Given the description of an element on the screen output the (x, y) to click on. 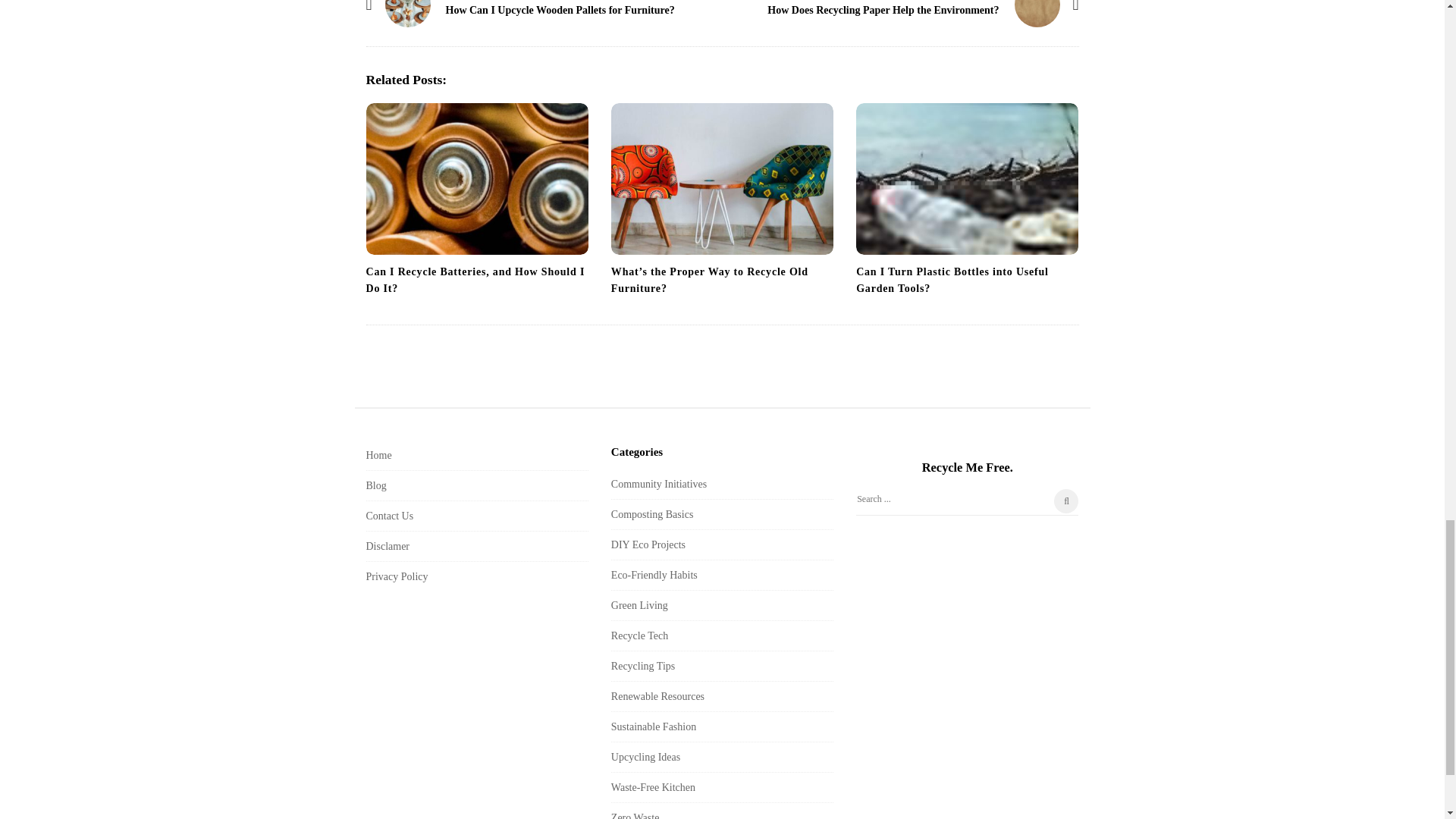
How Can I Upcycle Wooden Pallets for Furniture? (560, 9)
Can I Recycle Batteries, and How Should I Do It? (475, 280)
Privacy Policy (396, 576)
Can I Recycle Batteries, and How Should I Do It? (475, 280)
Can I Turn Plastic Bottles into Useful Garden Tools? (967, 178)
Disclamer (387, 546)
Green Living (639, 604)
Can I Recycle Batteries, and How Should I Do It? (476, 178)
Recycle Tech (639, 635)
Home (378, 455)
How Can I Upcycle Wooden Pallets for Furniture? (407, 13)
Eco-Friendly Habits (654, 574)
How Does Recycling Paper Help the Environment? (882, 9)
Blog (375, 485)
Composting Basics (652, 514)
